Given the description of an element on the screen output the (x, y) to click on. 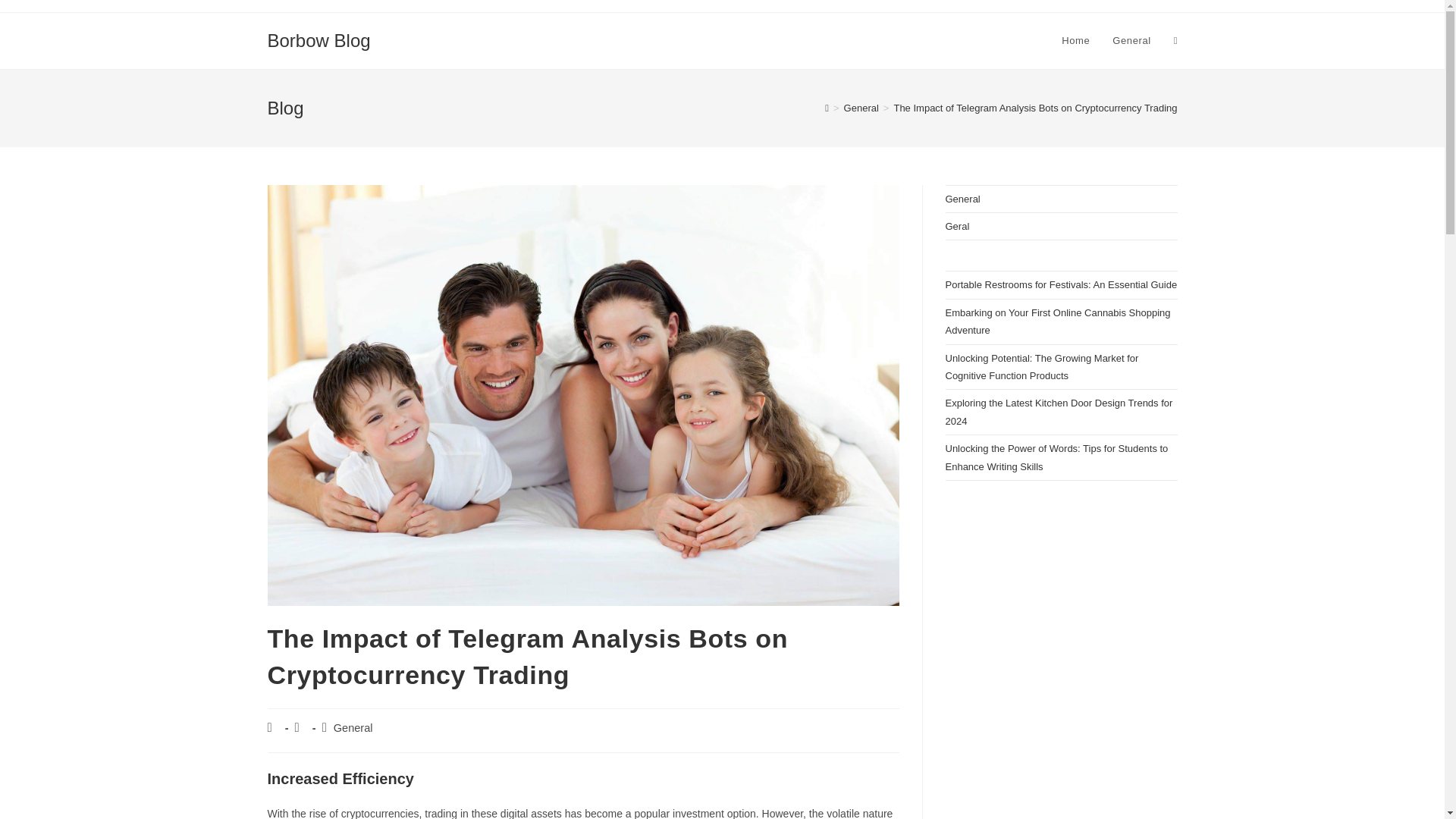
Borbow Blog (317, 40)
Portable Restrooms for Festivals: An Essential Guide (1060, 284)
Exploring the Latest Kitchen Door Design Trends for 2024 (1058, 411)
General (961, 198)
Embarking on Your First Online Cannabis Shopping Adventure (1057, 321)
Geral (956, 225)
General (861, 107)
General (352, 727)
